Given the description of an element on the screen output the (x, y) to click on. 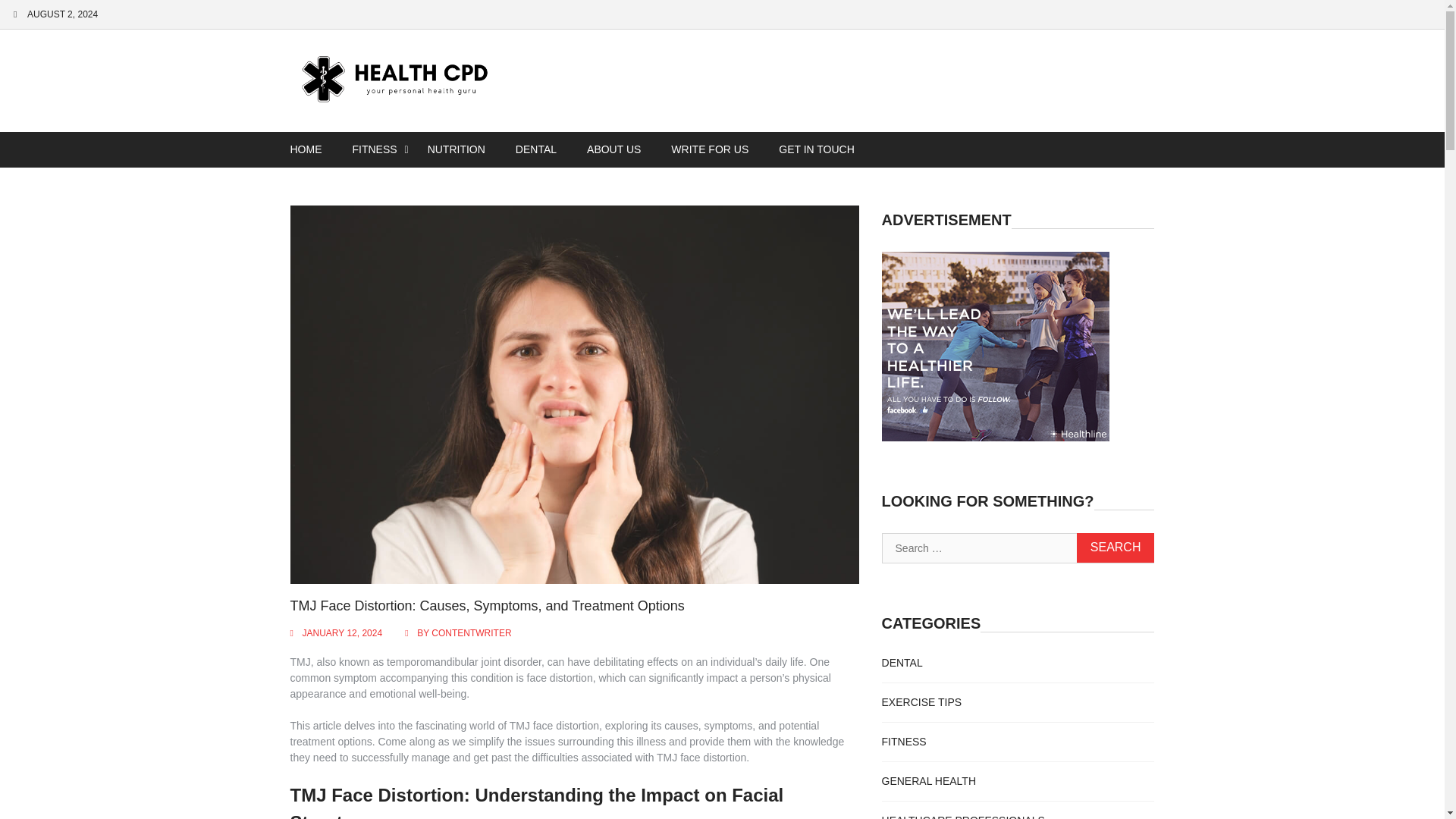
Exercise Tips blogs. (922, 702)
Search (1115, 547)
EXERCISE TIPS (922, 702)
JANUARY 12, 2024 (341, 633)
DENTAL (902, 662)
DENTAL (536, 149)
HEALTHCARE PROFESSIONALS (963, 816)
Blogs about fitness (904, 741)
GENERAL HEALTH (928, 780)
CONTENTWRITER (470, 633)
